Given the description of an element on the screen output the (x, y) to click on. 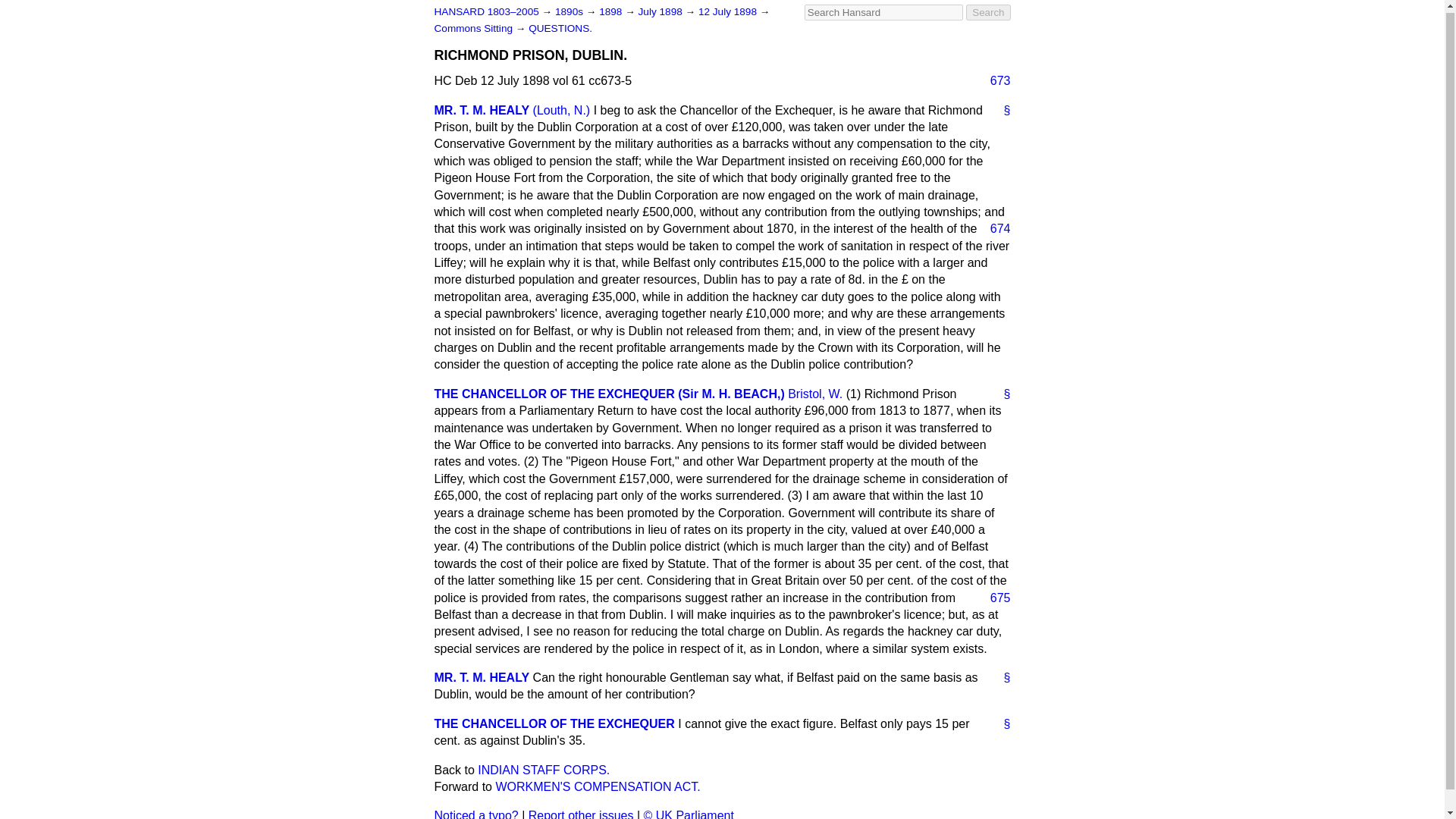
Commons Sitting (474, 28)
Link to this speech by Mr Timothy Healy (1000, 110)
1890s (570, 11)
WORKMEN'S COMPENSATION ACT. (597, 786)
Mr William Beach (608, 393)
QUESTIONS. (560, 28)
THE CHANCELLOR OF THE EXCHEQUER (553, 723)
Link to this speech by Mr William Beach (1000, 393)
Link to this speech by Mr Timothy Healy (1000, 677)
Louth North (561, 110)
July 1898 (662, 11)
675 (994, 597)
1898 (611, 11)
Mr Timothy Healy (481, 110)
Bristol West (815, 393)
